Given the description of an element on the screen output the (x, y) to click on. 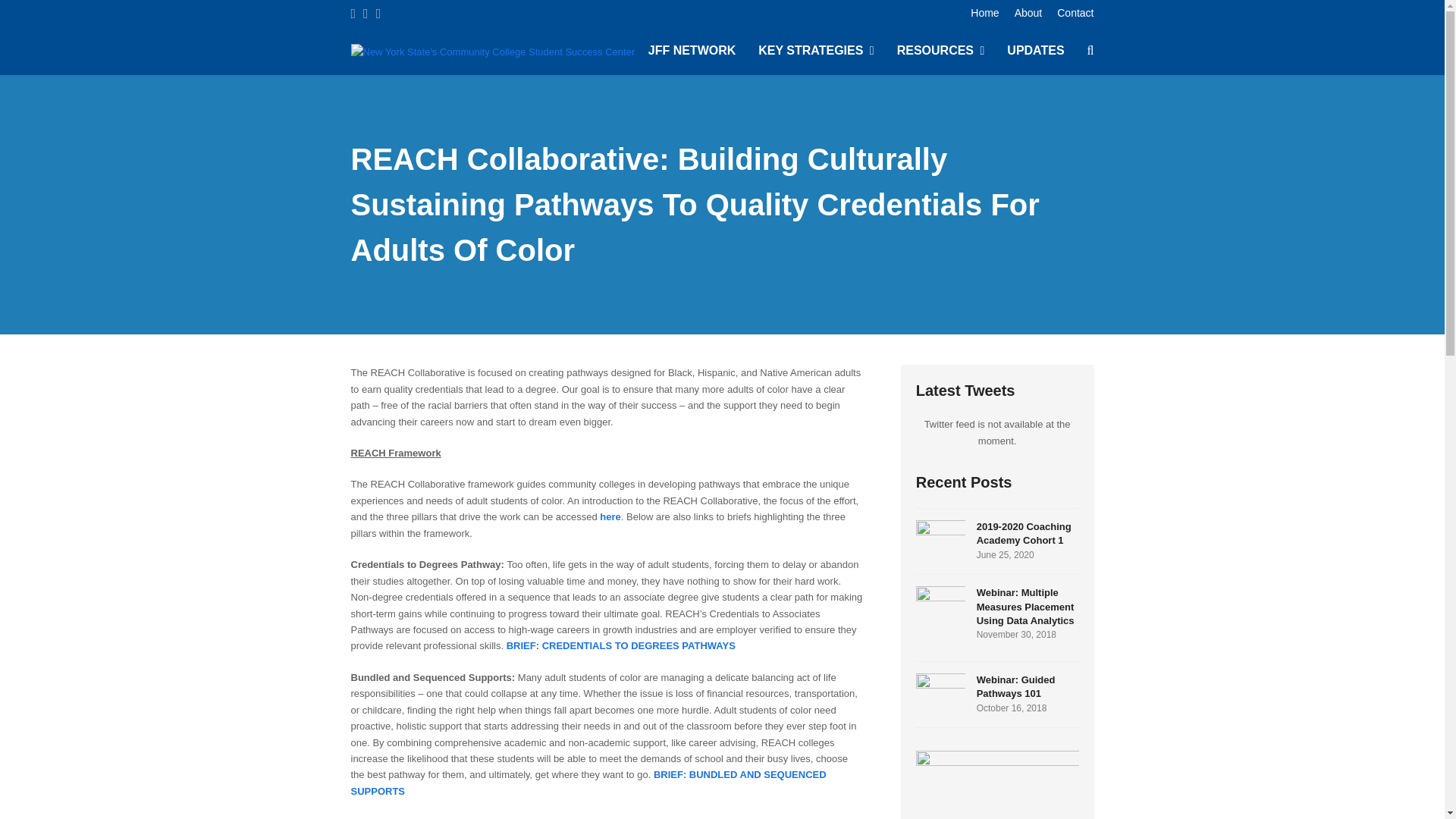
KEY STRATEGIES (815, 51)
UPDATES (1035, 51)
Home (984, 12)
BRIEF: CREDENTIALS TO DEGREES PATHWAYS (620, 645)
BRIEF: BUNDLED AND SEQUENCED SUPPORTS (587, 782)
About (1028, 12)
here (609, 516)
RESOURCES (940, 51)
JFF NETWORK (996, 541)
Contact (996, 694)
